Given the description of an element on the screen output the (x, y) to click on. 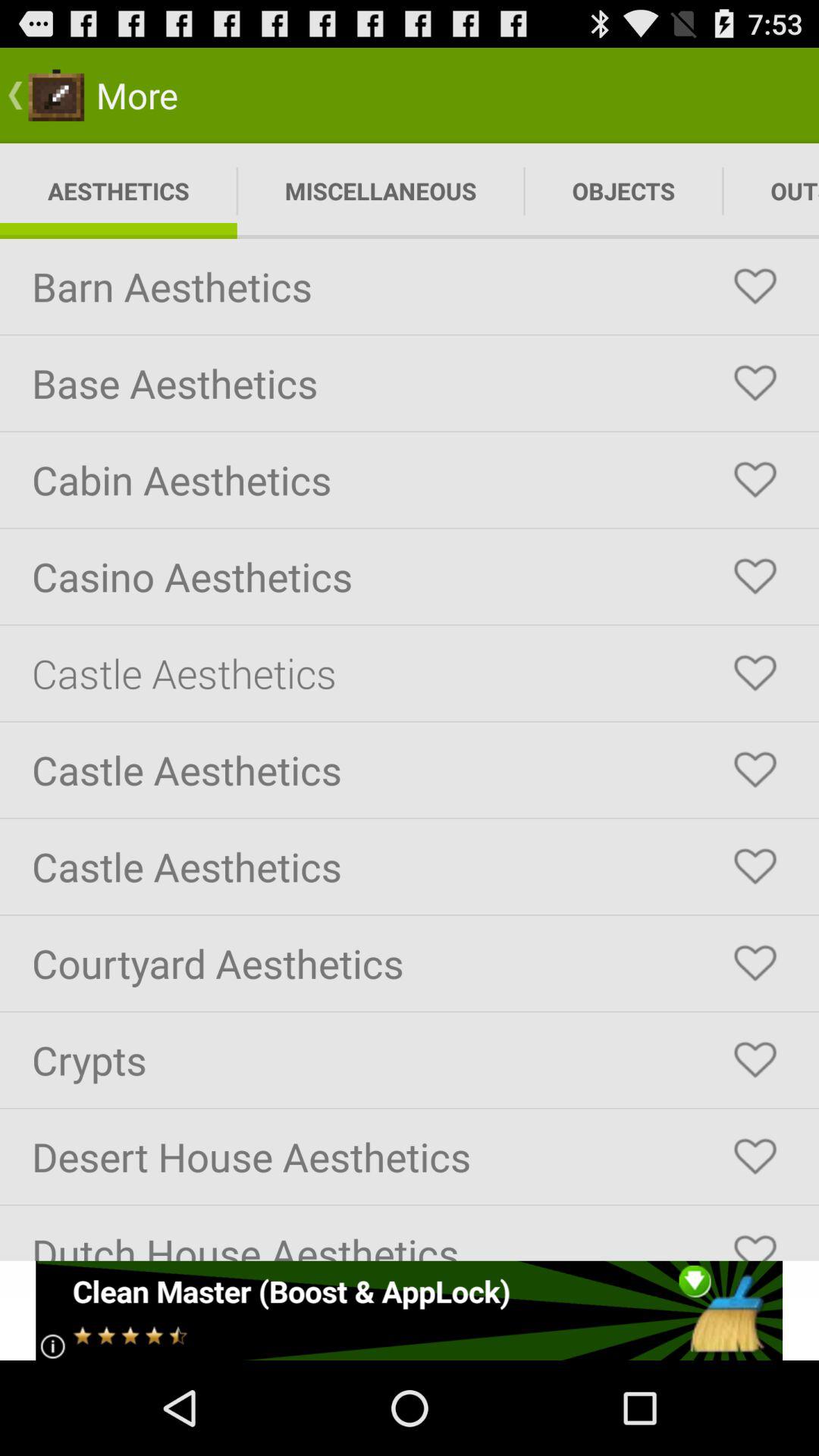
toggle heart (755, 1156)
